Given the description of an element on the screen output the (x, y) to click on. 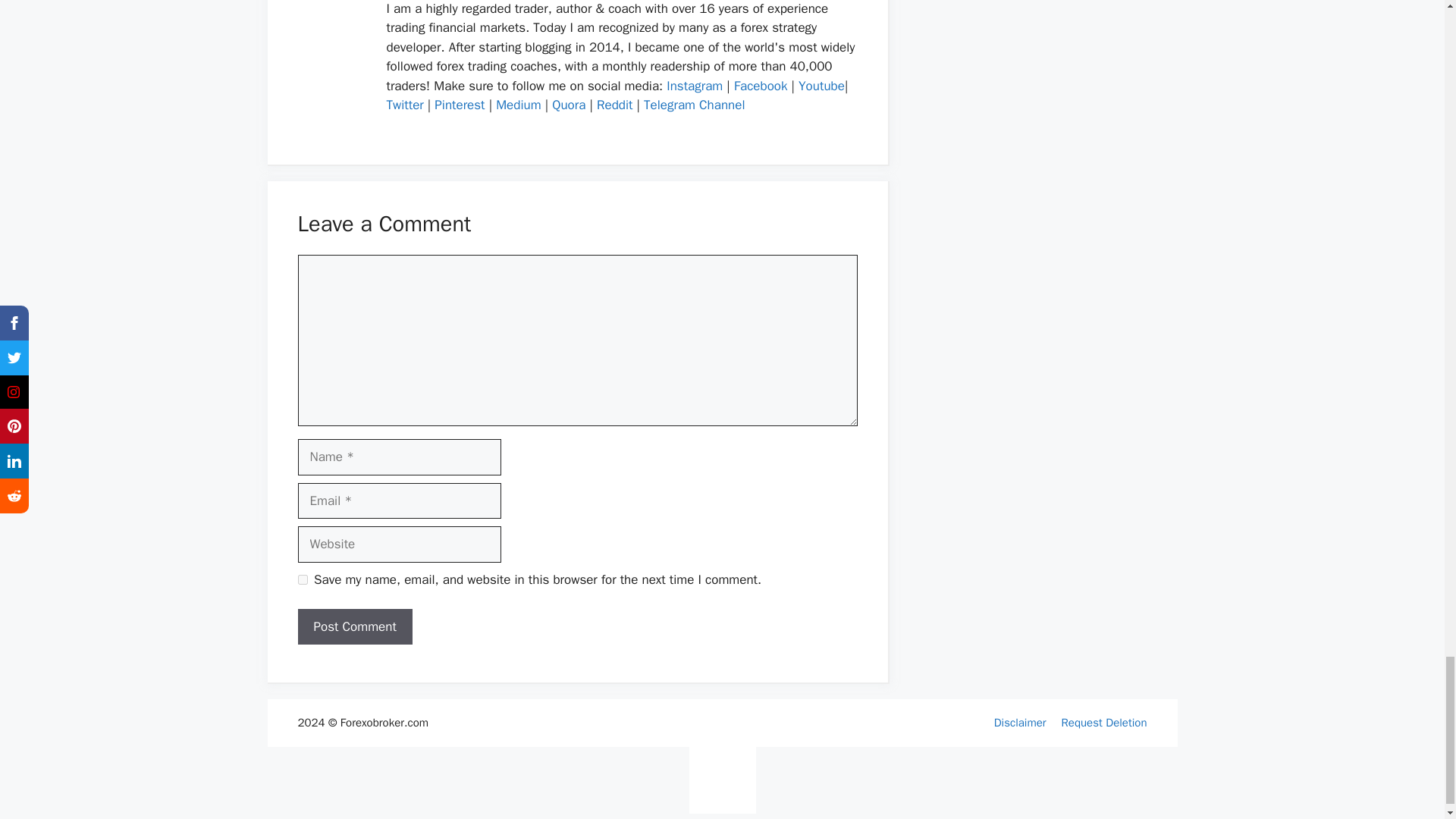
yes (302, 579)
Post Comment (354, 627)
Instagram (694, 85)
